Given the description of an element on the screen output the (x, y) to click on. 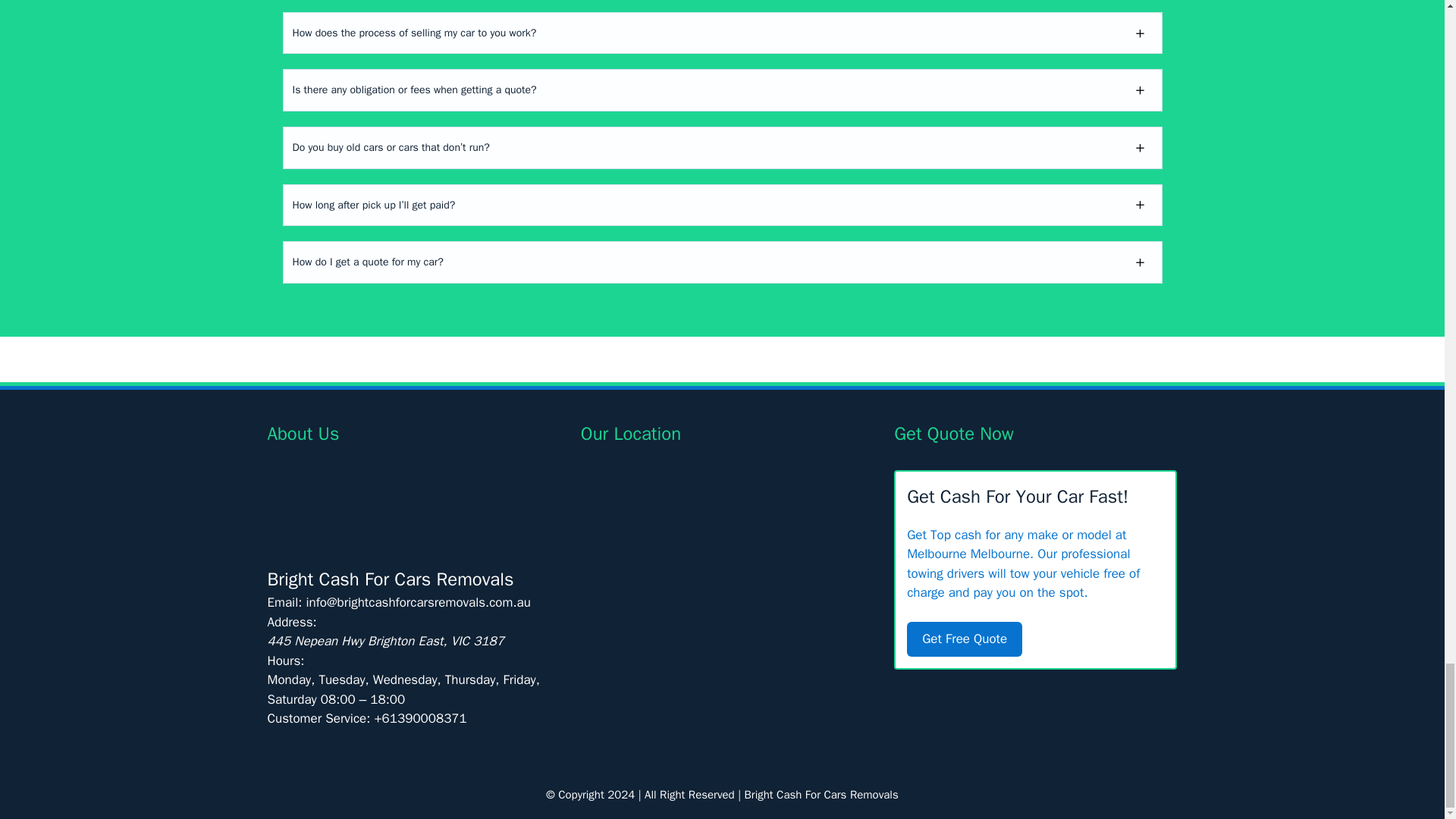
Get Free Quote (964, 638)
Bright Cash For Cars Removals (821, 794)
bright cash for cars removals web logo (408, 506)
Bright Cash For Cars Removals (389, 579)
